Given the description of an element on the screen output the (x, y) to click on. 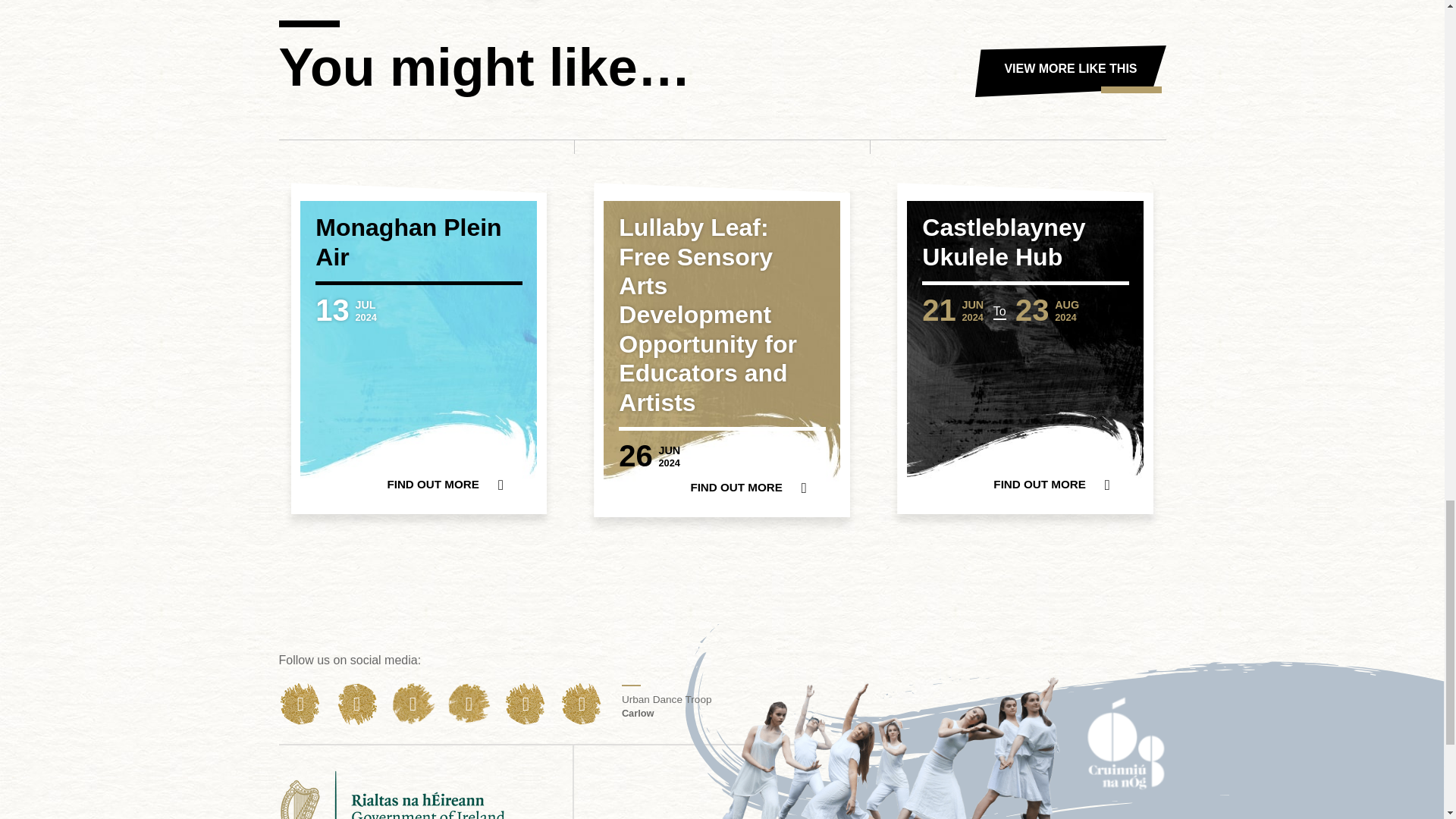
Instagram (468, 703)
VIEW MORE LIKE THIS (1070, 71)
Facebook (300, 703)
Twitter (412, 703)
Youtube (356, 703)
Soundcloud (582, 703)
Soundcloud (525, 703)
